Given the description of an element on the screen output the (x, y) to click on. 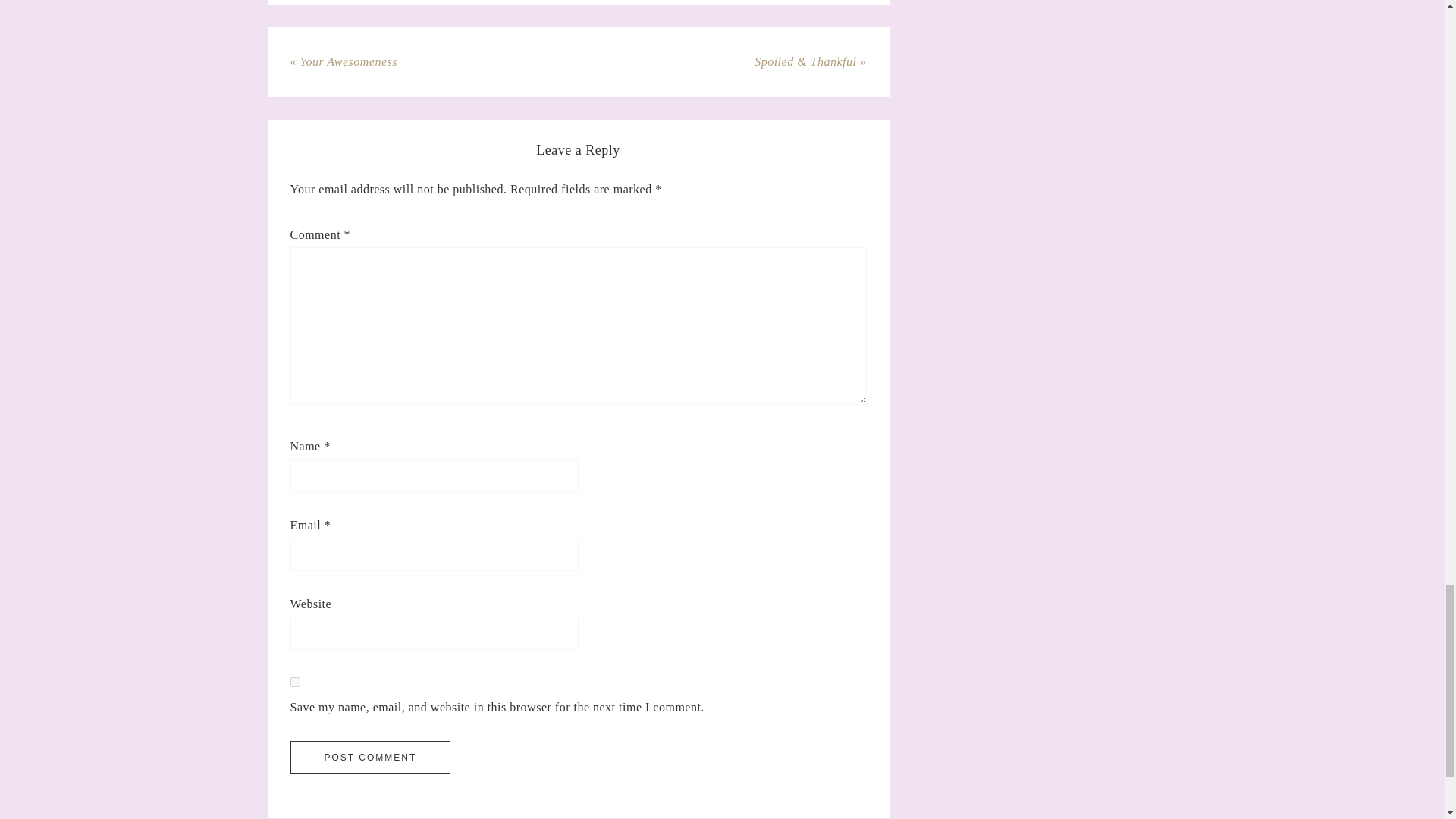
yes (294, 682)
Post Comment (369, 757)
Post Comment (369, 757)
